Given the description of an element on the screen output the (x, y) to click on. 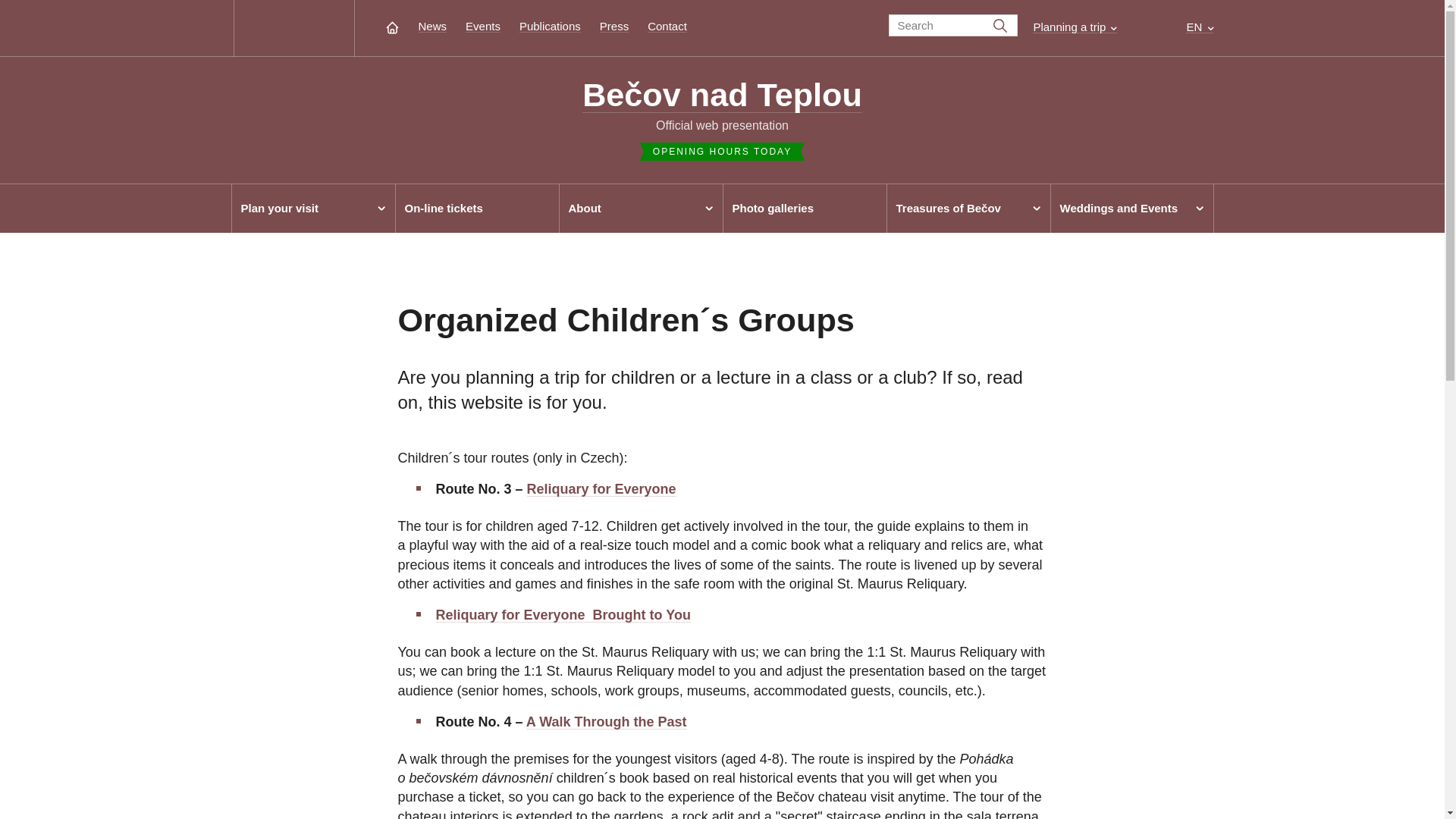
About (639, 208)
Planning a trip (1074, 26)
Contact (667, 25)
Events (482, 25)
News (432, 25)
Plan your visit (312, 208)
Photo galleries (803, 208)
OPENING HOURS TODAY (721, 143)
Press (613, 25)
EN (1199, 26)
Publications (549, 25)
On-line tickets (475, 208)
